Given the description of an element on the screen output the (x, y) to click on. 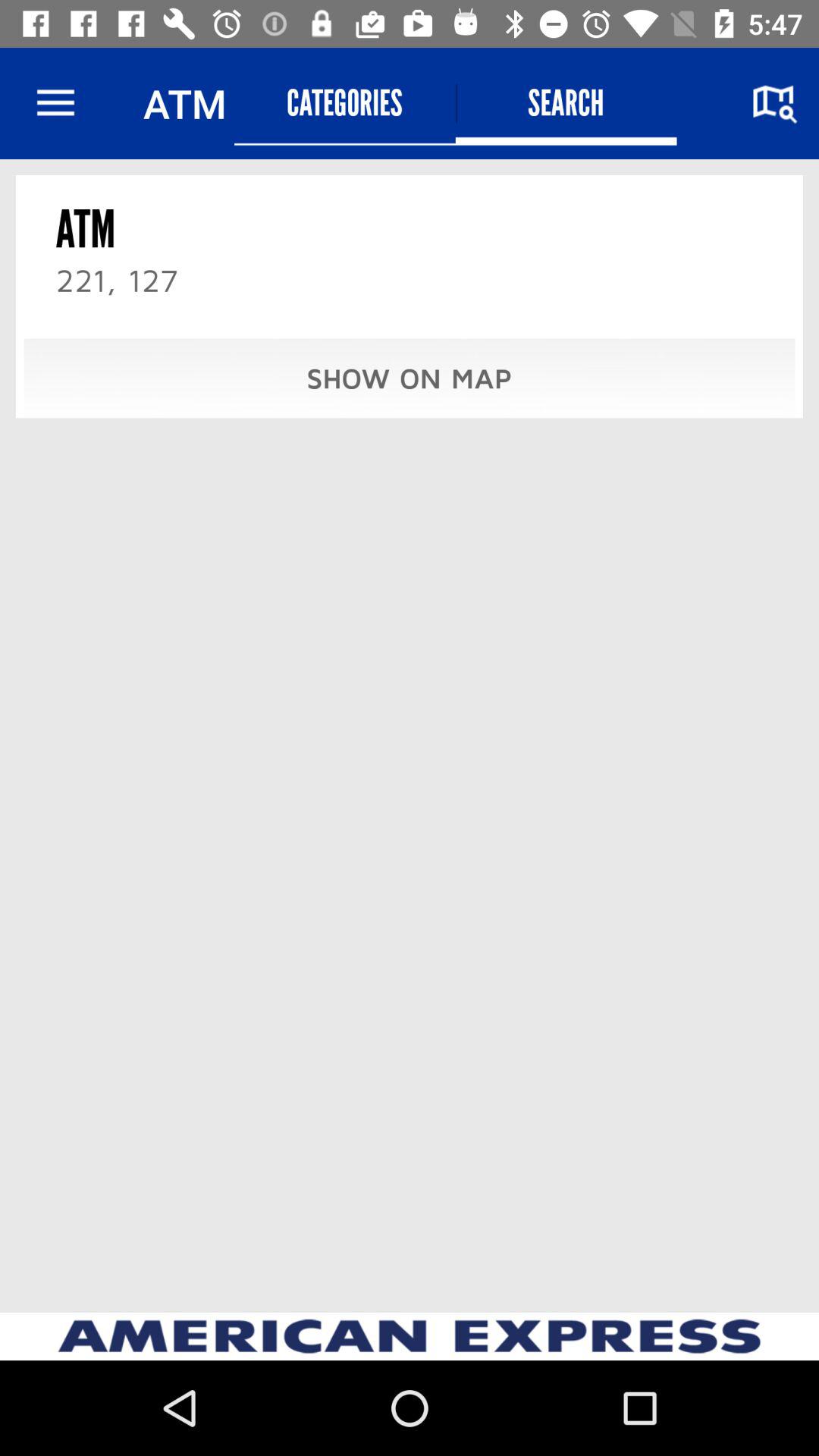
select the search (565, 103)
